Given the description of an element on the screen output the (x, y) to click on. 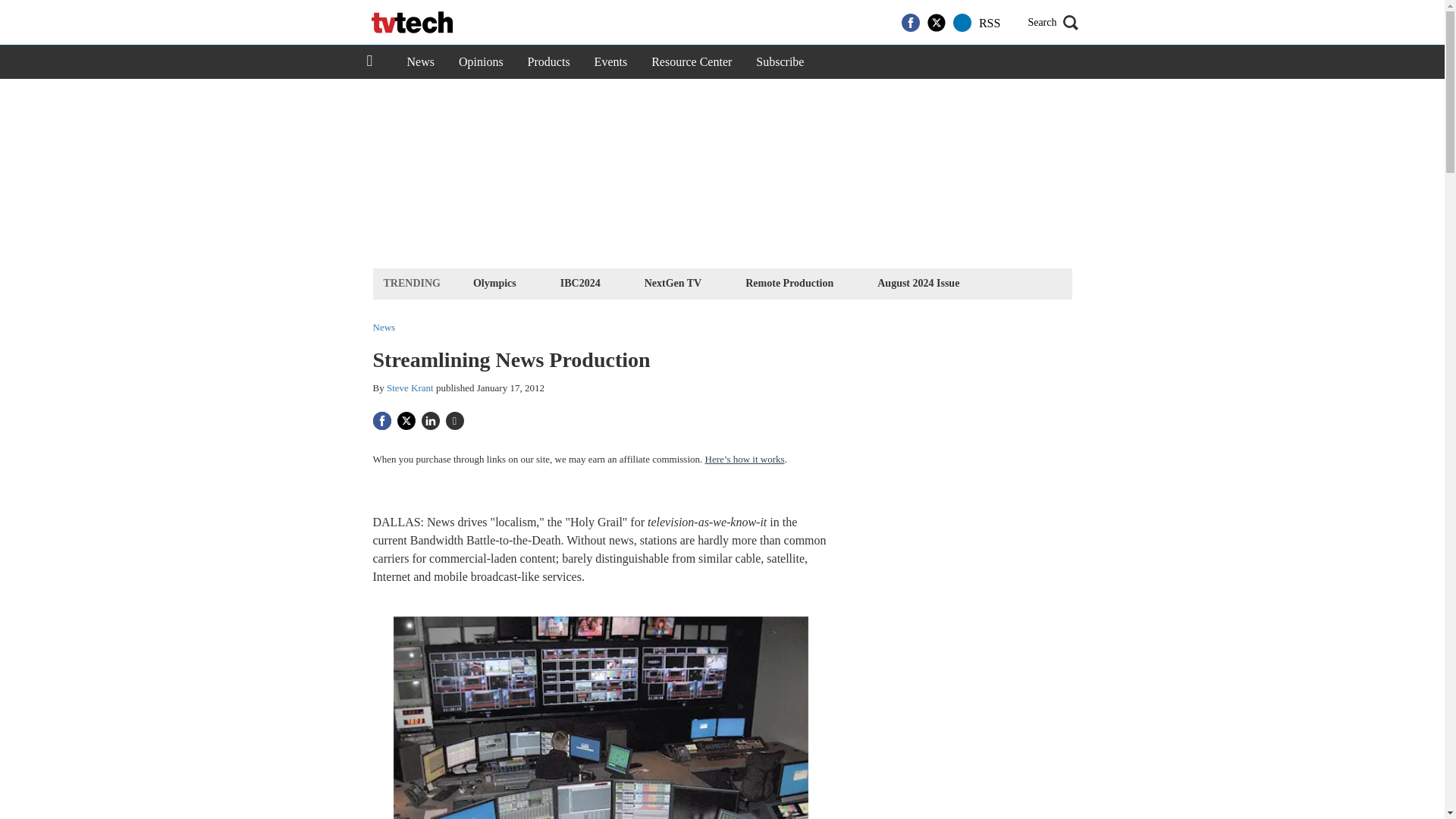
Olympics (494, 282)
IBC2024 (579, 282)
NextGen TV (673, 282)
News (419, 61)
August 2024 Issue (917, 282)
Subscribe (779, 61)
RSS (989, 22)
Opinions (480, 61)
Remote Production (788, 282)
Events (611, 61)
